Given the description of an element on the screen output the (x, y) to click on. 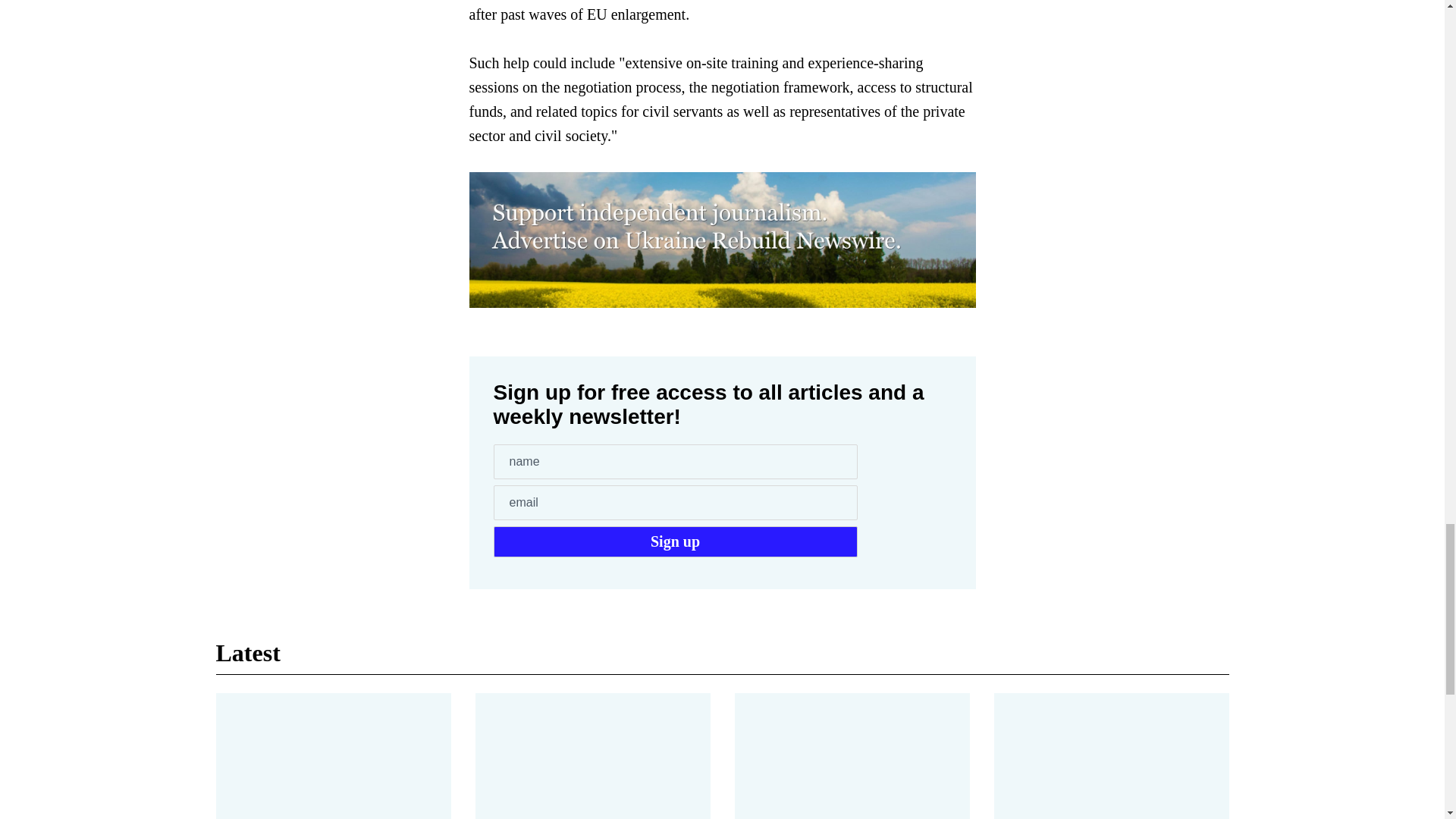
Sign up (675, 541)
